Given the description of an element on the screen output the (x, y) to click on. 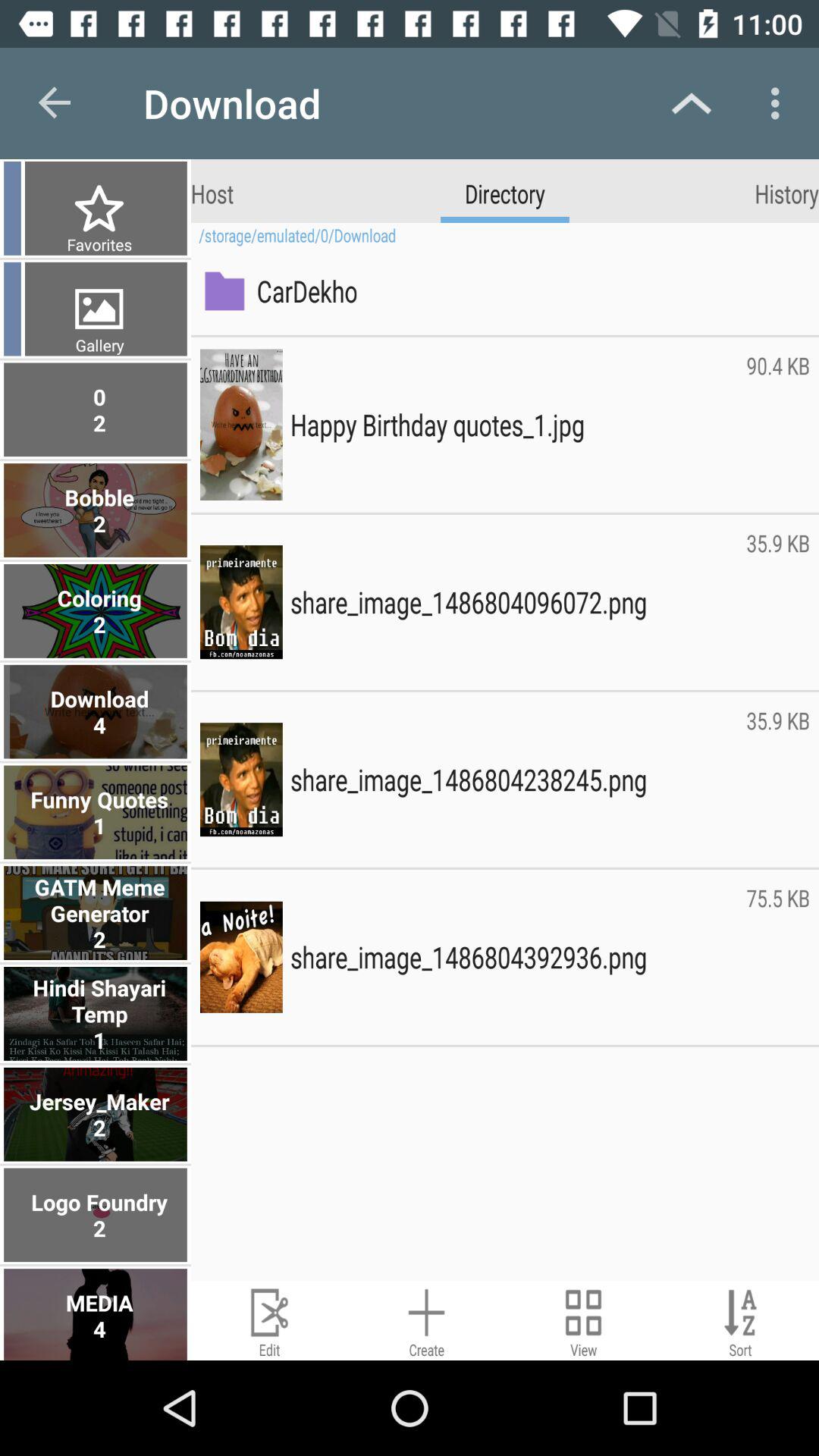
click item to the right of the happy birthday quotes_1 icon (777, 424)
